Given the description of an element on the screen output the (x, y) to click on. 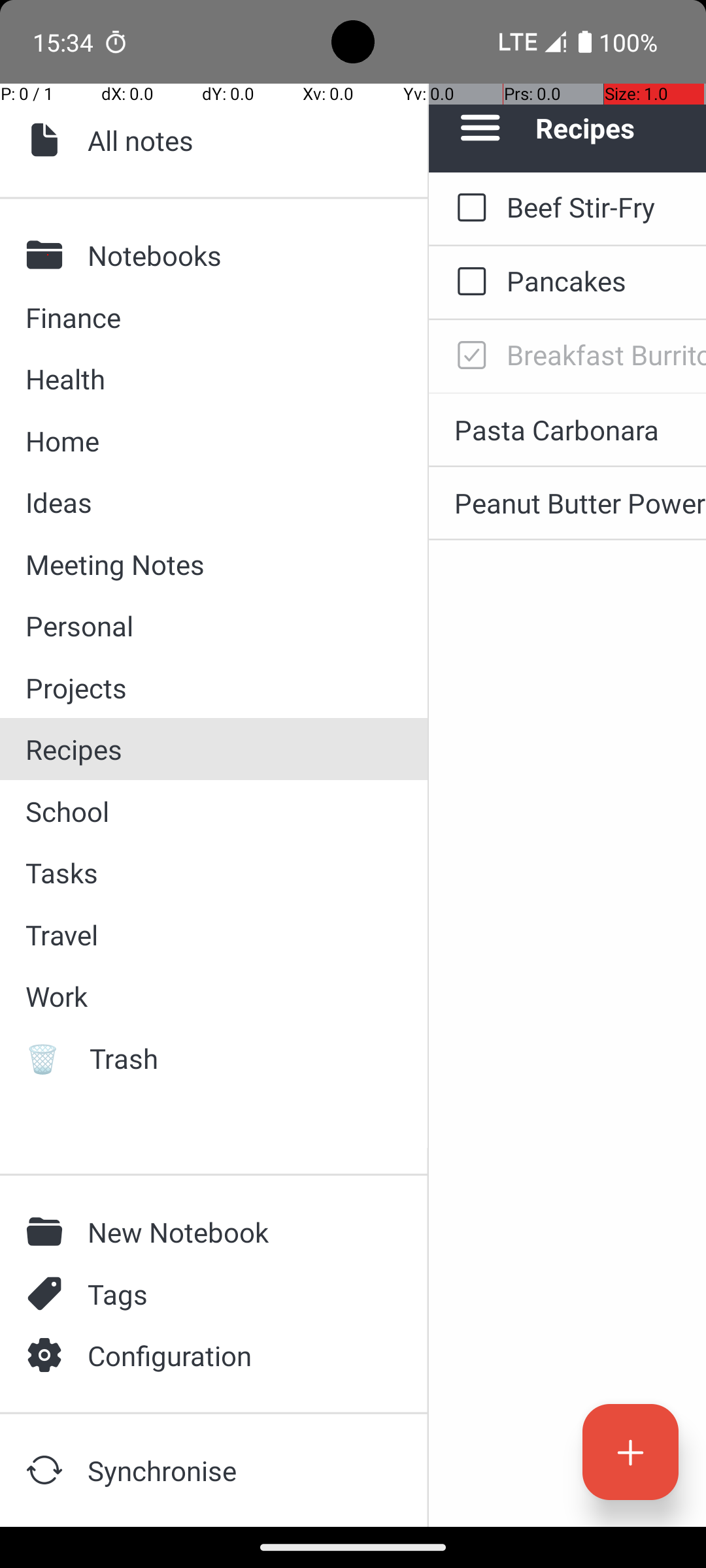
 Element type: android.widget.TextView (47, 254)
Notebooks Element type: android.widget.TextView (235, 254)
 Element type: android.widget.TextView (47, 1231)
New Notebook Element type: android.widget.TextView (235, 1231)
 Element type: android.widget.TextView (47, 1293)
 Element type: android.widget.TextView (47, 1354)
Configuration Element type: android.widget.TextView (235, 1354)
 Element type: android.widget.TextView (47, 1469)
Synchronise Element type: android.widget.TextView (235, 1469)
to-do: Beef Stir-Fry Element type: android.widget.CheckBox (467, 208)
Beef Stir-Fry Element type: android.widget.TextView (606, 206)
to-do: Pancakes Element type: android.widget.CheckBox (467, 282)
Pancakes Element type: android.widget.TextView (606, 280)
to-do: Breakfast Burritos Element type: android.widget.CheckBox (467, 356)
Breakfast Burritos Element type: android.widget.TextView (606, 354)
Pasta Carbonara Element type: android.widget.TextView (580, 429)
Peanut Butter Power Smoothie Element type: android.widget.TextView (580, 502)
 Element type: android.widget.TextView (47, 139)
🗑️ Element type: android.widget.TextView (48, 1057)
